Given the description of an element on the screen output the (x, y) to click on. 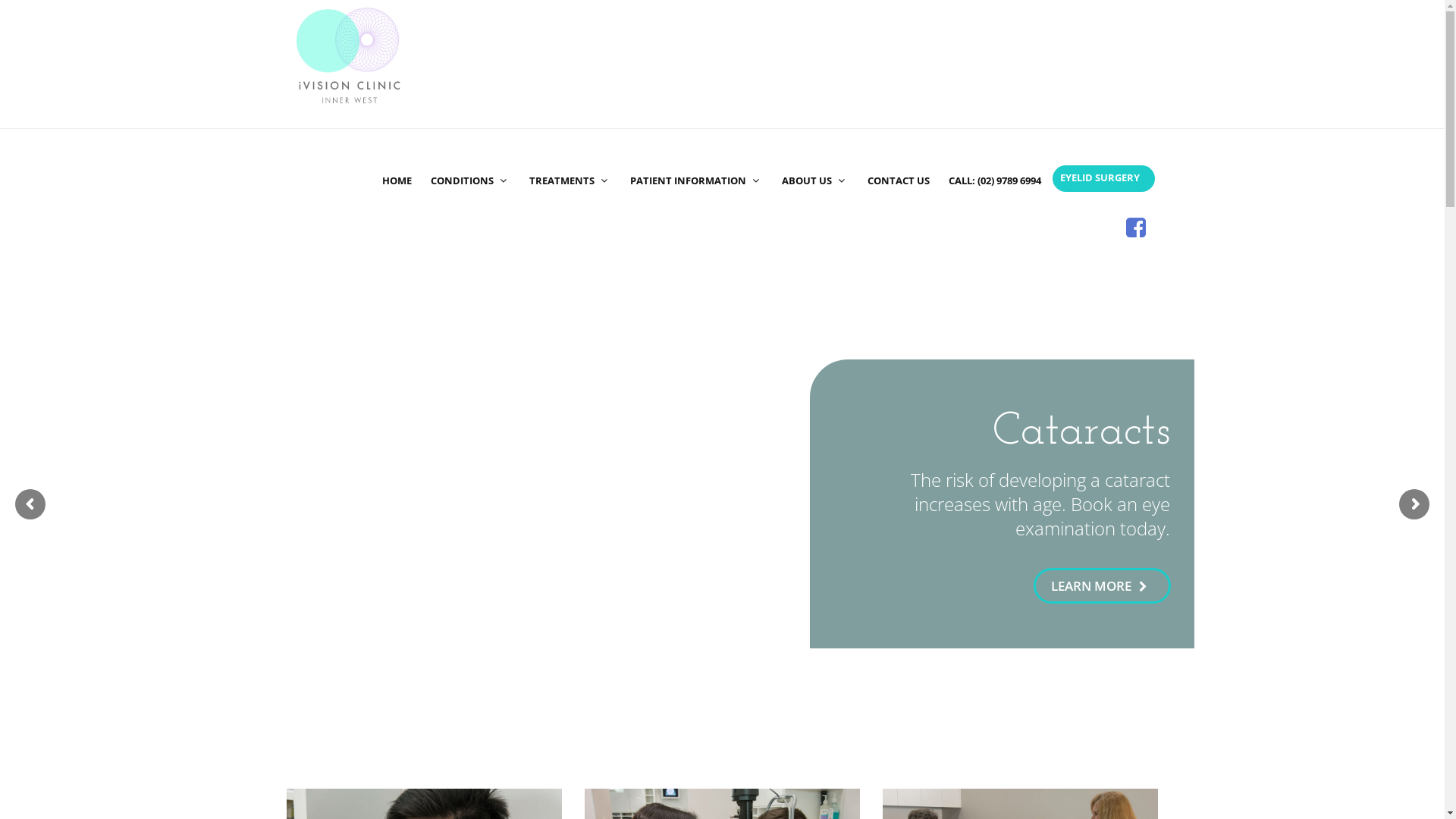
EYELID SURGERY Element type: text (1103, 178)
CONTACT US Element type: text (898, 153)
PATIENT INFORMATION Element type: text (695, 153)
TREATMENTS Element type: text (569, 153)
ABOUT US Element type: text (814, 153)
CALL: (02) 9789 6994 Element type: text (994, 153)
HOME Element type: text (396, 153)
iVision Clinic Element type: hover (350, 56)
CONDITIONS Element type: text (470, 153)
